Given the description of an element on the screen output the (x, y) to click on. 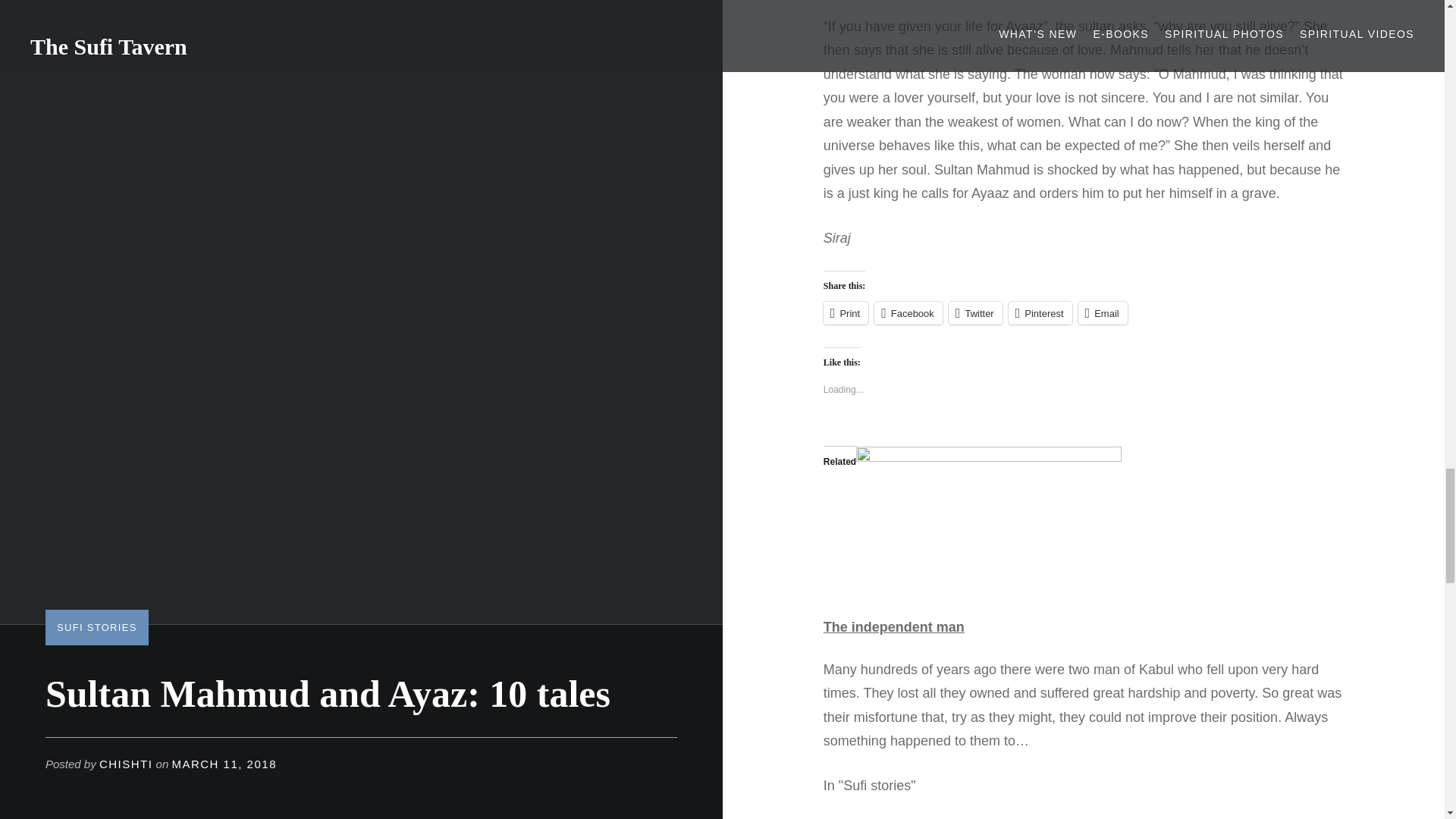
Print (845, 313)
Pinterest (1040, 313)
Email (1102, 313)
Facebook (908, 313)
Click to share on Pinterest (1040, 313)
Click to email a link to a friend (1102, 313)
The independent man (893, 626)
The independent man (893, 626)
Click to print (845, 313)
Click to share on Facebook (908, 313)
